Given the description of an element on the screen output the (x, y) to click on. 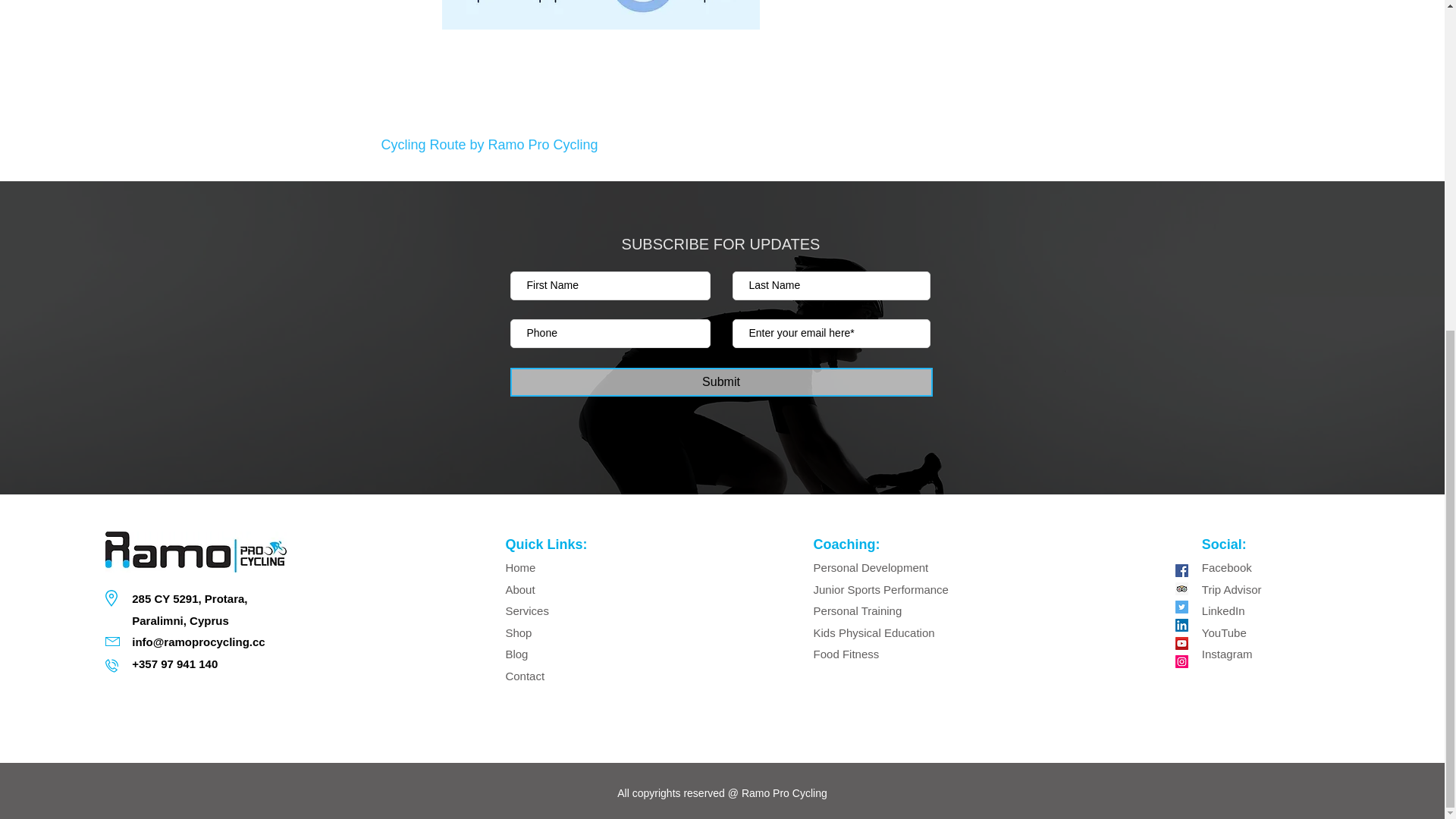
Services (526, 610)
Personal Development  (872, 567)
Contact (524, 675)
Personal Training (857, 610)
Submit (720, 381)
Shop  (519, 632)
Home (520, 567)
Junior Sports Performance (881, 589)
Blog (516, 653)
